Given the description of an element on the screen output the (x, y) to click on. 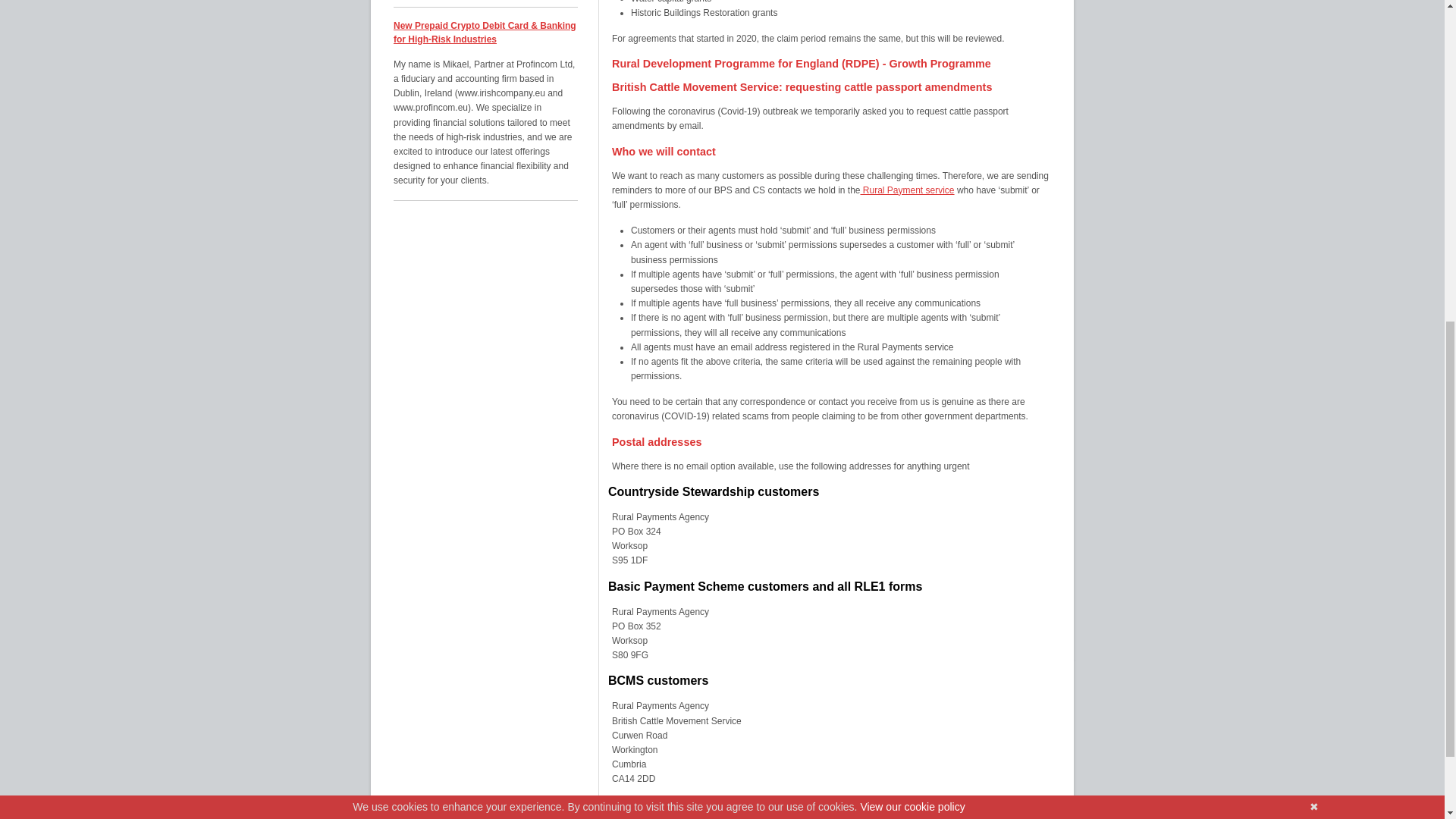
Rural Payment service (906, 190)
View our cookie policy (911, 222)
